Given the description of an element on the screen output the (x, y) to click on. 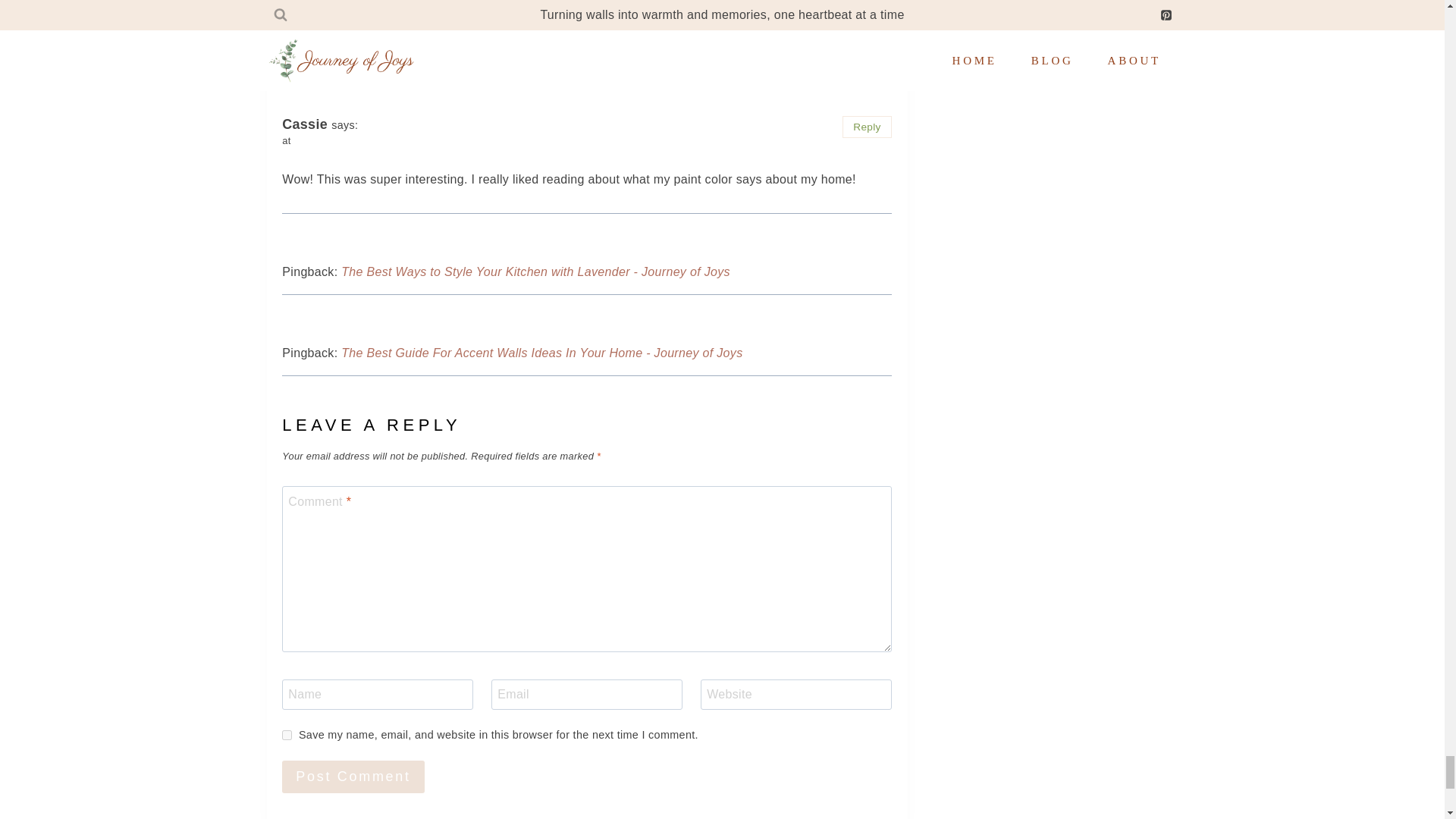
Post Comment (352, 776)
yes (287, 735)
